Given the description of an element on the screen output the (x, y) to click on. 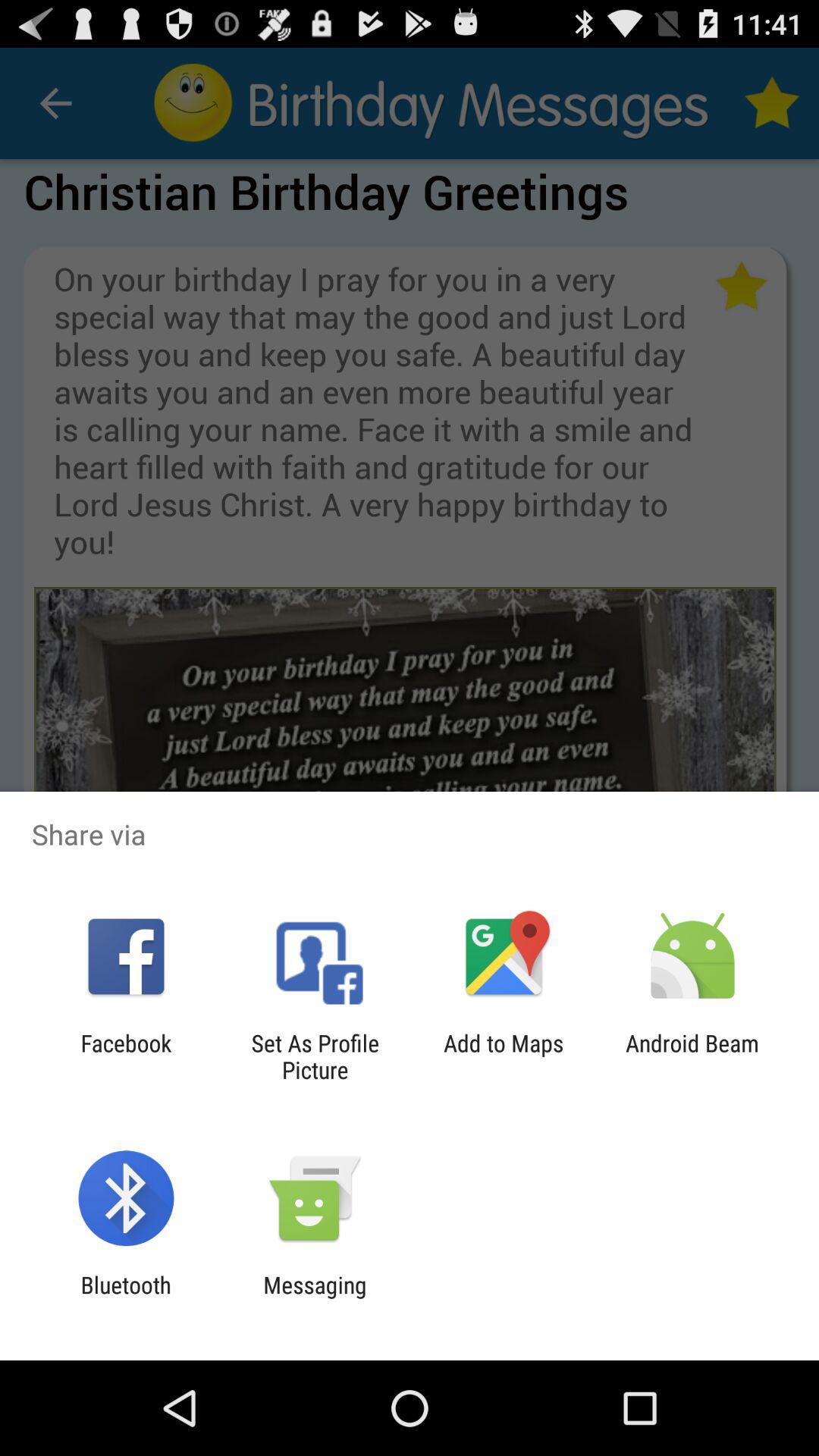
open app next to add to maps app (692, 1056)
